Given the description of an element on the screen output the (x, y) to click on. 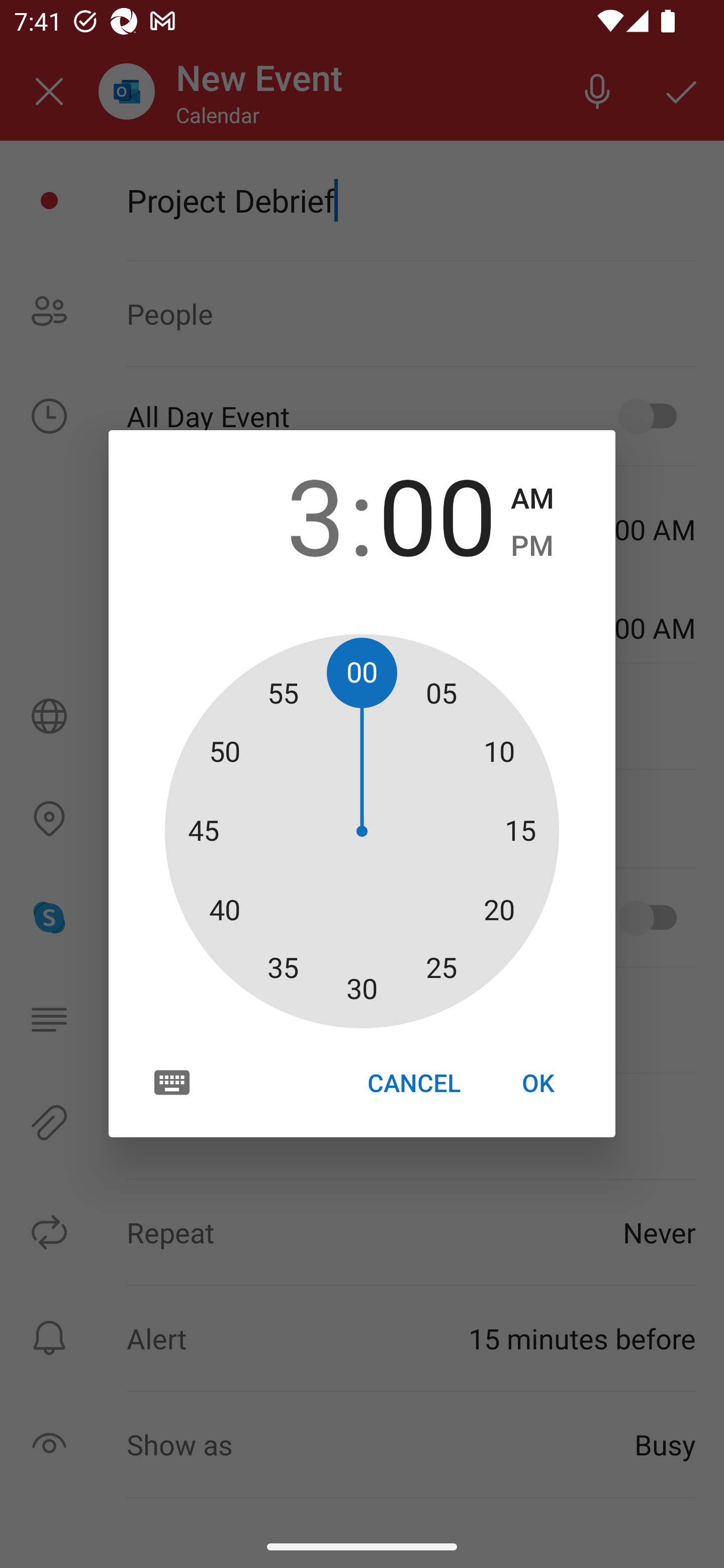
3 (285, 513)
00 (436, 513)
AM (532, 498)
PM (532, 546)
CANCEL (413, 1082)
OK (537, 1082)
Switch to text input mode for the time input. (171, 1081)
